Given the description of an element on the screen output the (x, y) to click on. 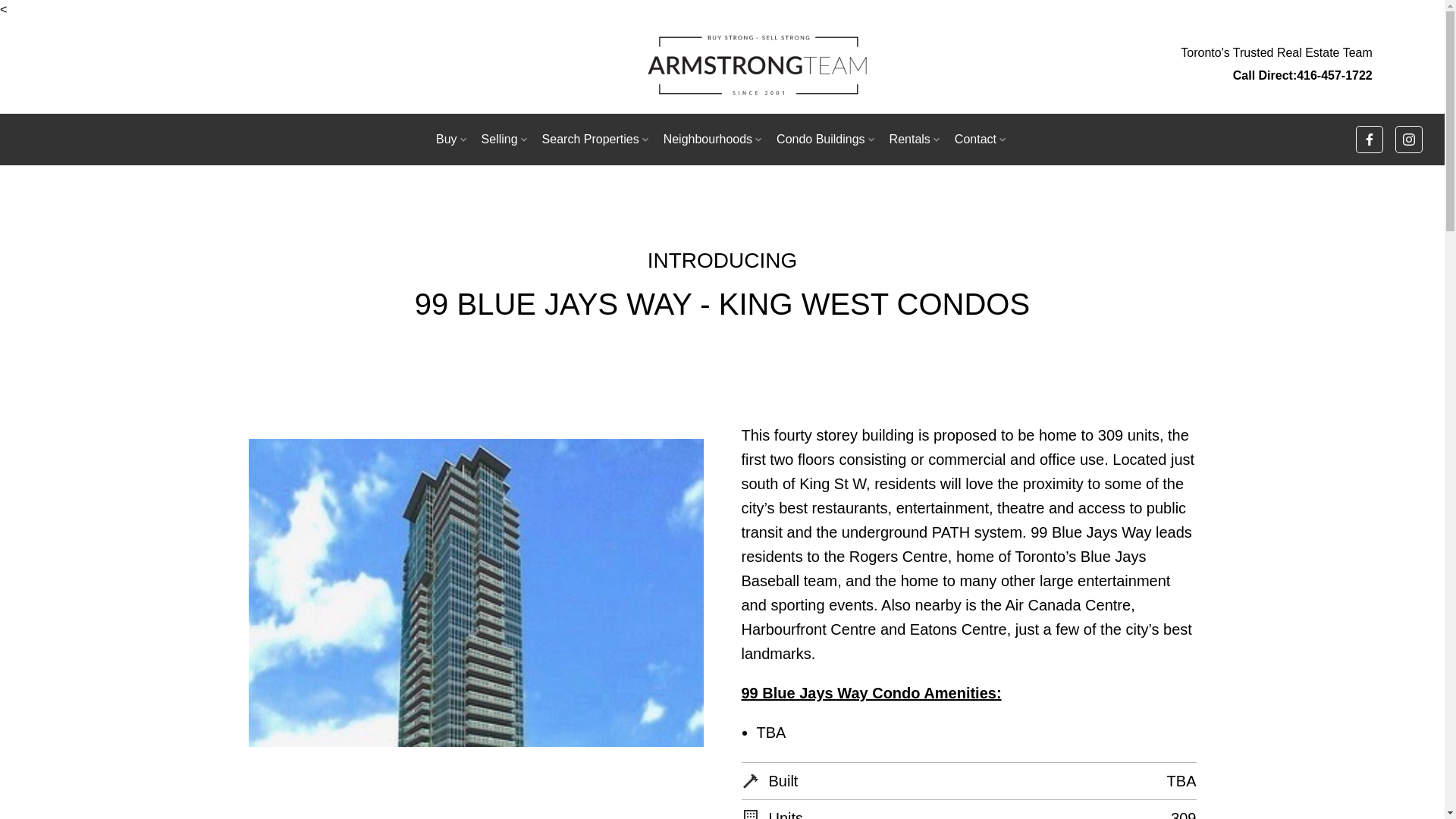
Buy (451, 139)
Selling (505, 139)
416-457-1722 (1275, 63)
